Given the description of an element on the screen output the (x, y) to click on. 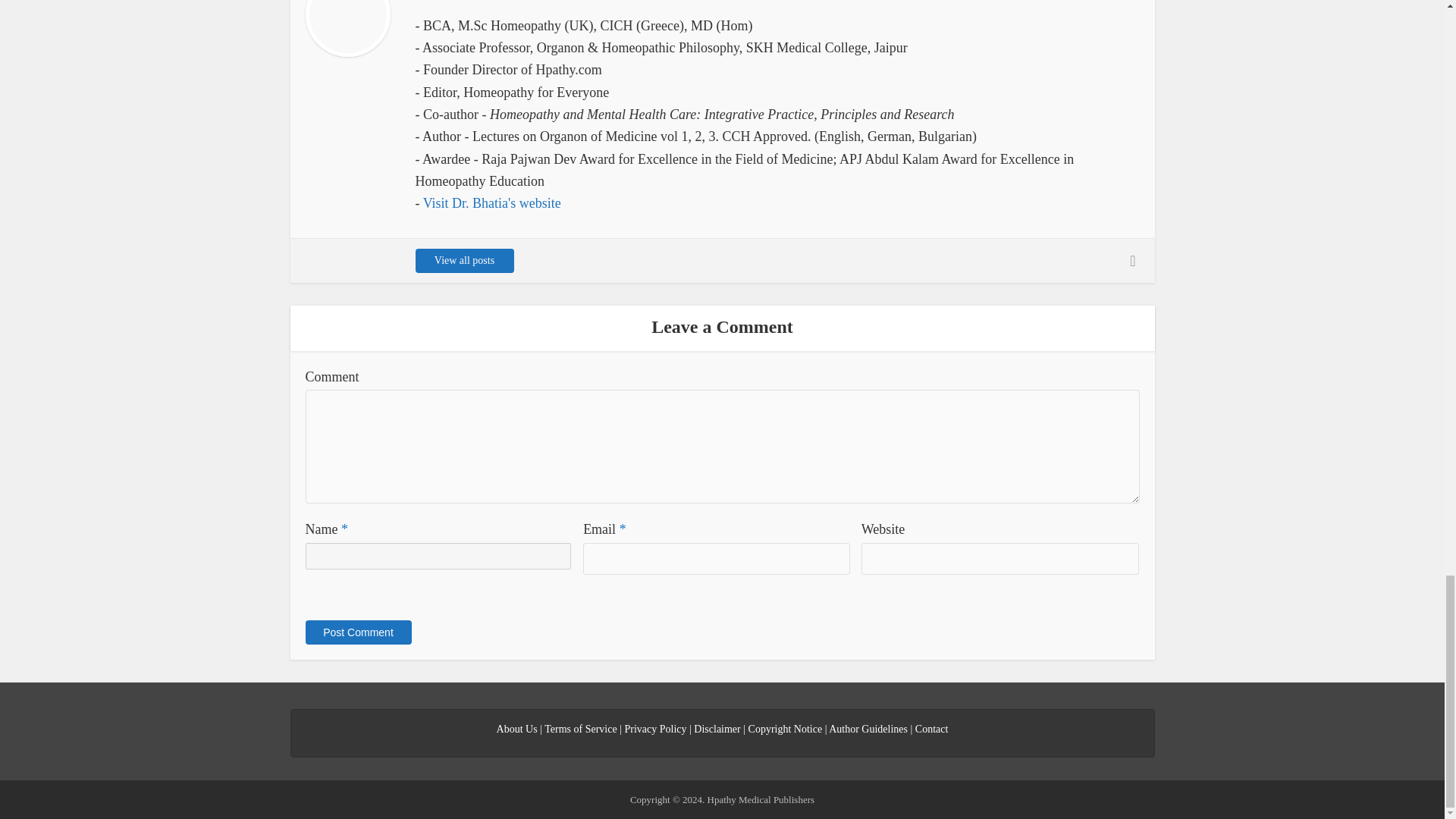
Post Comment (357, 631)
